Given the description of an element on the screen output the (x, y) to click on. 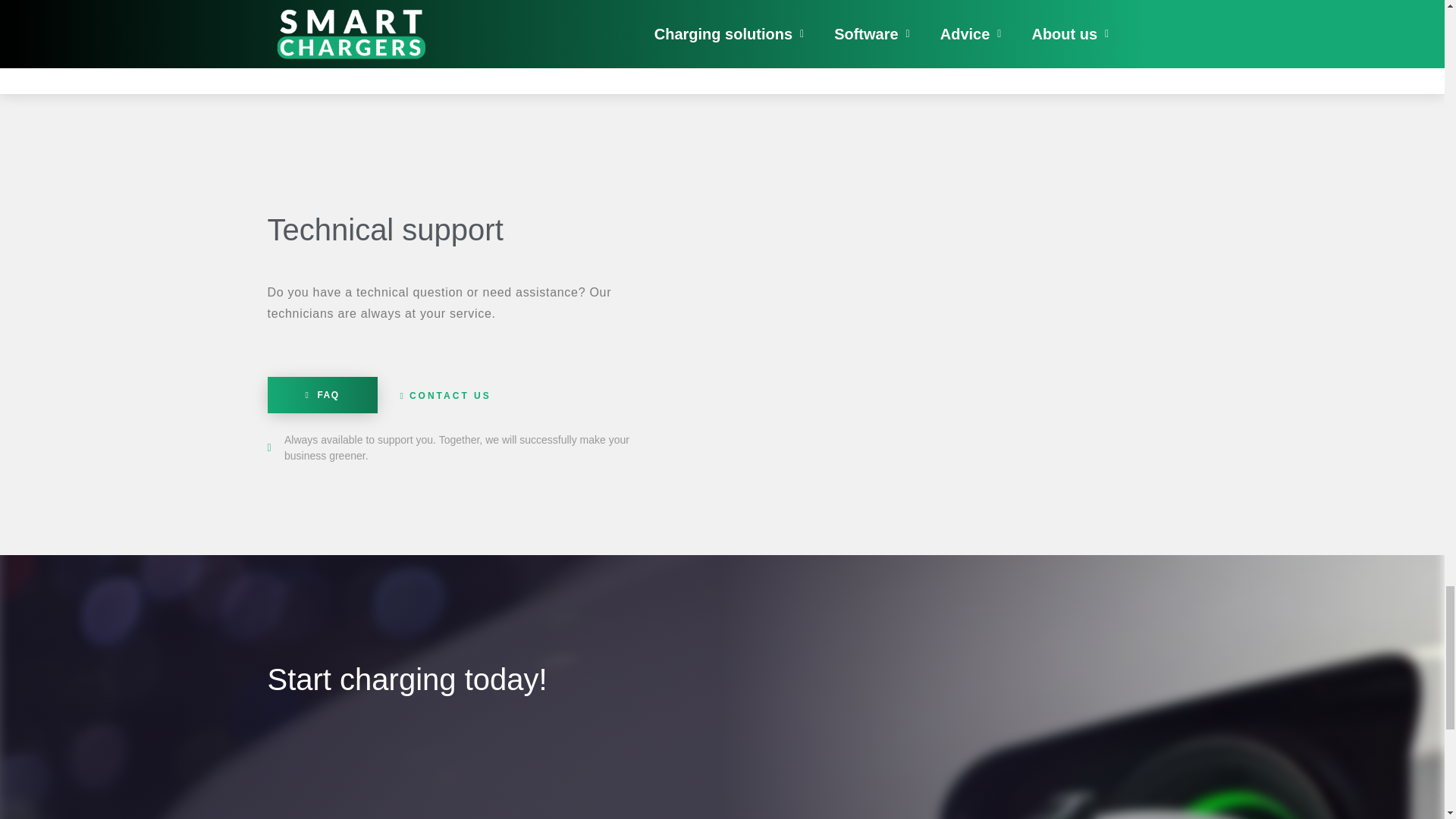
Smartchargers 11 (924, 303)
